Given the description of an element on the screen output the (x, y) to click on. 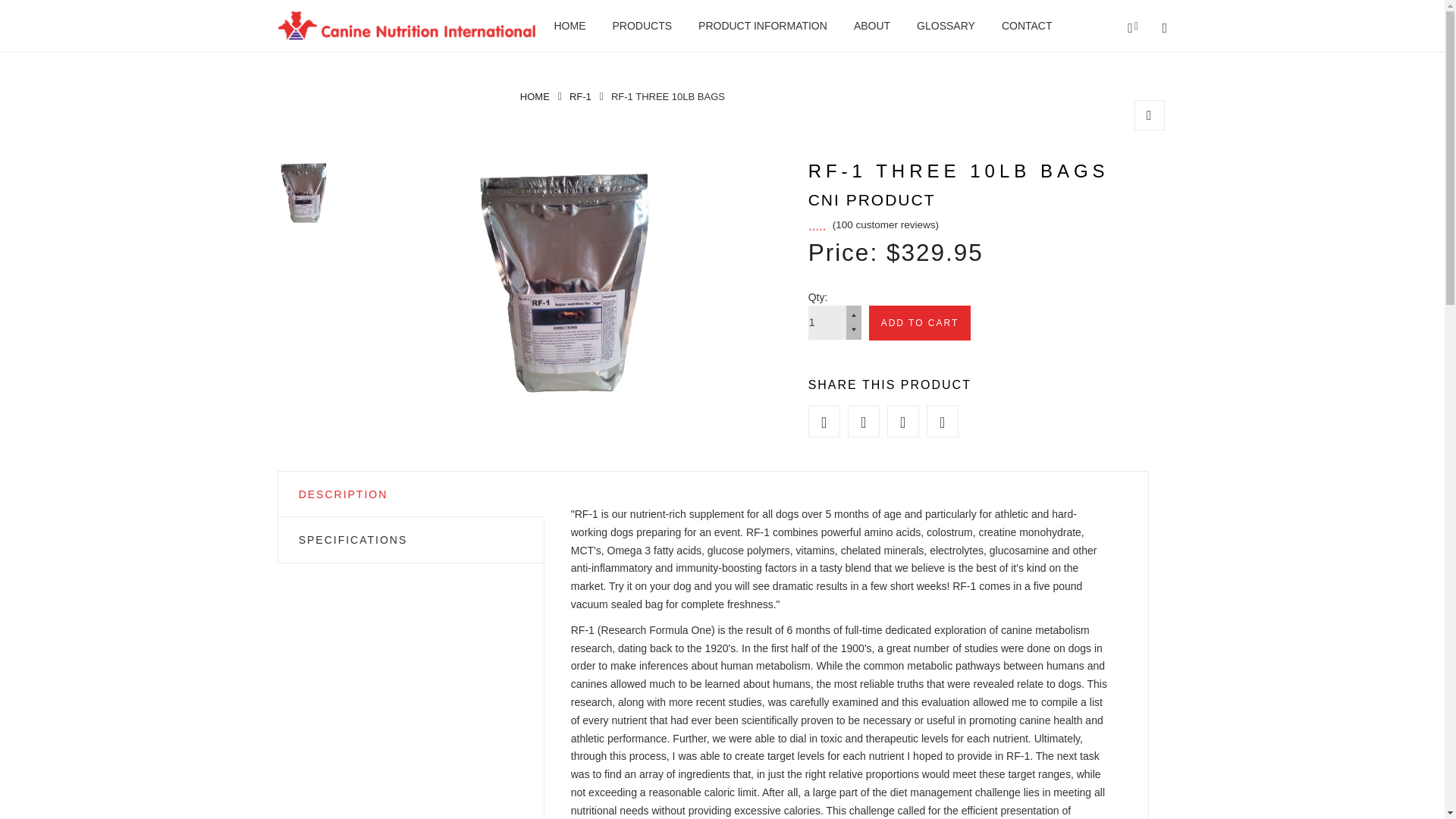
GLOSSARY (946, 25)
Rated 5 out of 5 (873, 224)
PRODUCT INFORMATION (762, 25)
PRODUCTS (642, 25)
HOME (534, 96)
HOME (569, 25)
Canine Nutrition International (534, 96)
ABOUT (871, 25)
ADD TO CART (920, 322)
CONTACT (1026, 25)
